Given the description of an element on the screen output the (x, y) to click on. 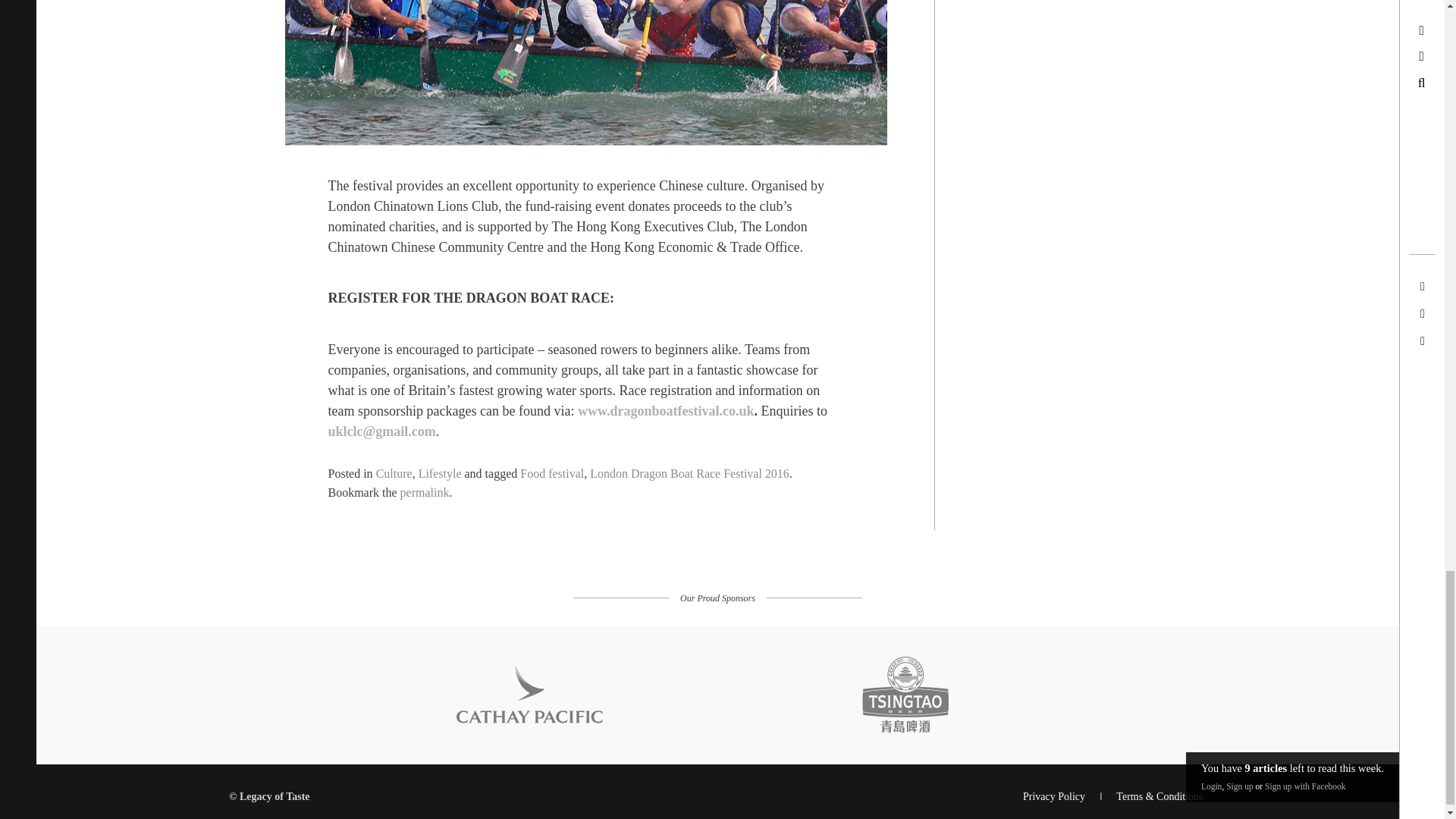
Food festival (551, 472)
permalink (424, 492)
www.dragonboatfestival.co.uk (666, 410)
London Dragon Boat Race Festival 2016 (689, 472)
Lifestyle (440, 472)
Culture (393, 472)
